Given the description of an element on the screen output the (x, y) to click on. 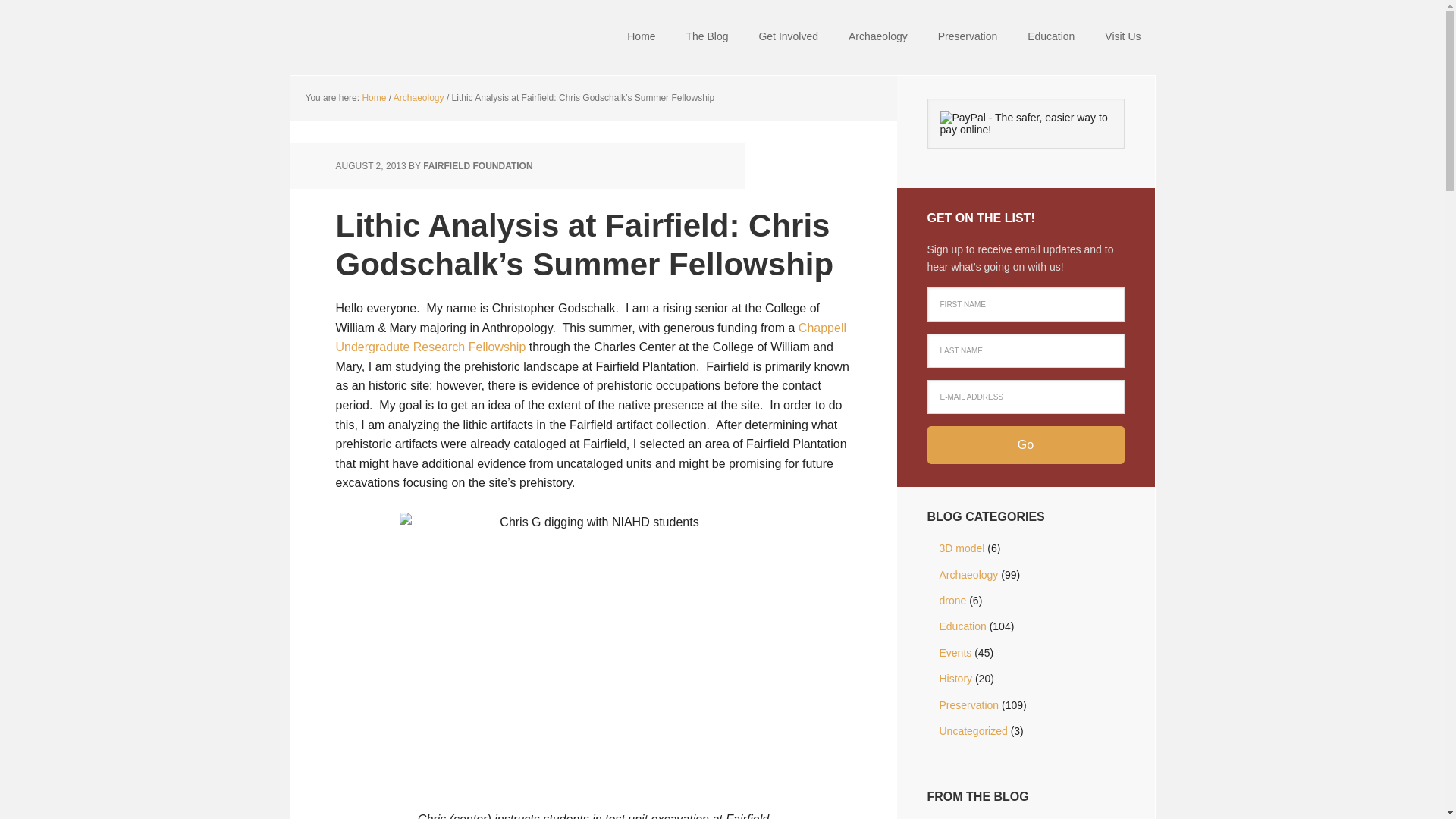
Go (1025, 444)
The Fairfield Foundation (387, 38)
Chappell Undergradute Research Fellowship (589, 337)
Archaeology (877, 37)
Home (373, 97)
Education (1050, 37)
Preservation (967, 37)
Archaeology (418, 97)
FAIRFIELD FOUNDATION (477, 165)
The Blog (706, 37)
